Given the description of an element on the screen output the (x, y) to click on. 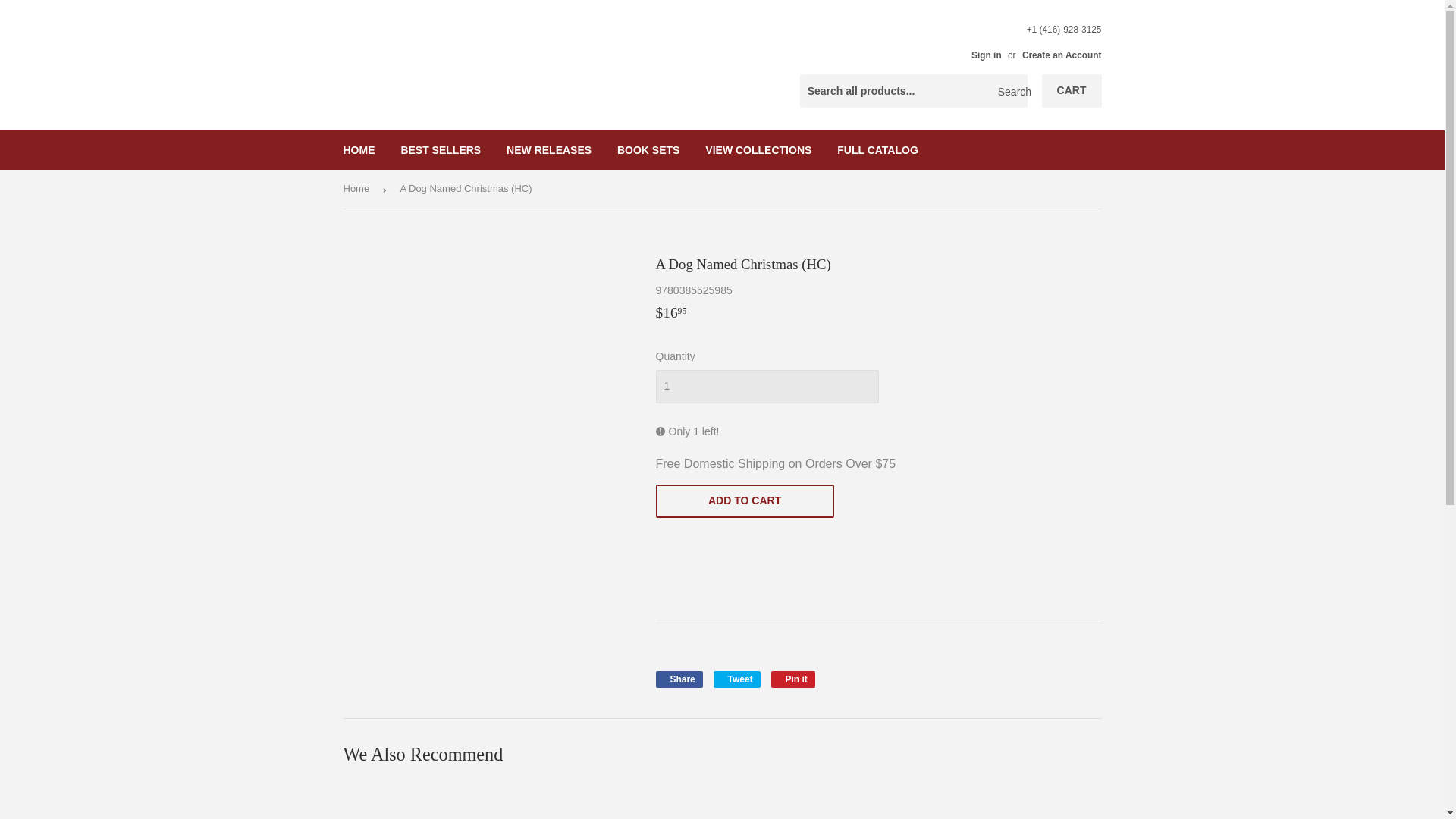
Search (1009, 91)
HOME (359, 149)
NEW RELEASES (548, 149)
CART (1072, 90)
Sign in (986, 54)
FULL CATALOG (678, 678)
Pin on Pinterest (877, 149)
Tweet on Twitter (793, 678)
1 (736, 678)
BEST SELLERS (766, 386)
ADD TO CART (440, 149)
Home (793, 678)
BOOK SETS (743, 500)
